Given the description of an element on the screen output the (x, y) to click on. 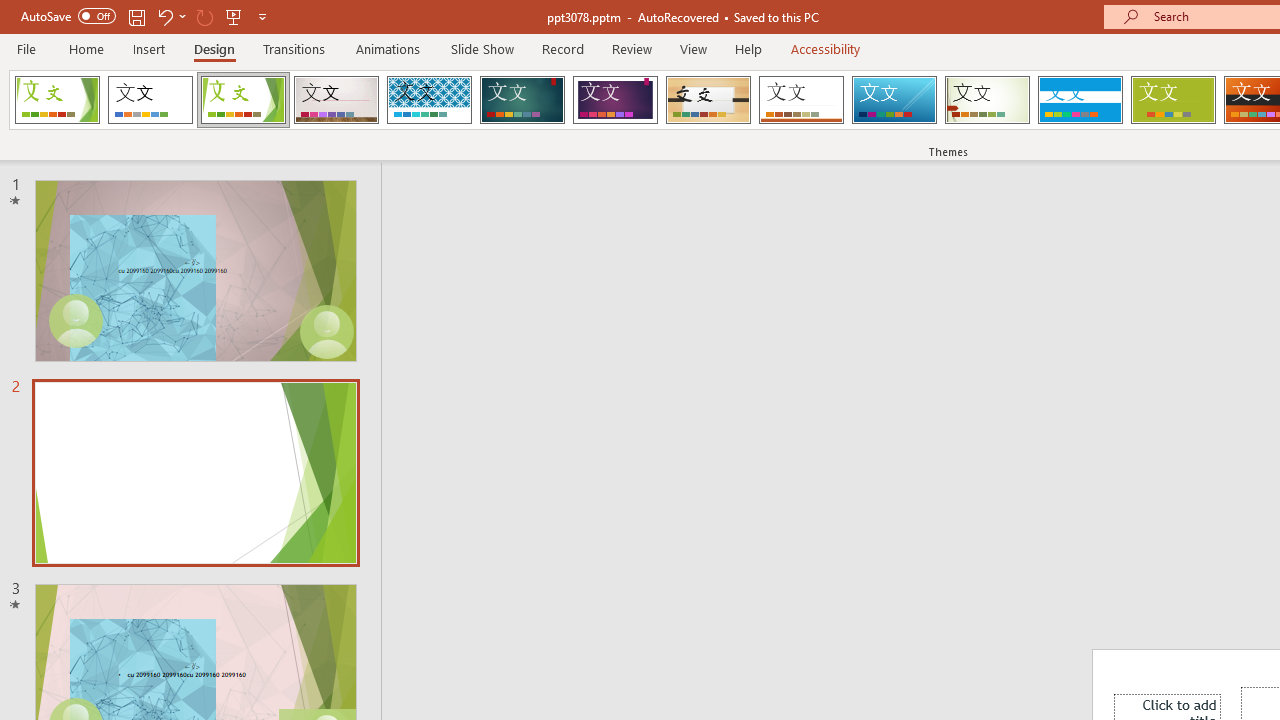
Integral (429, 100)
Basis (1172, 100)
Organic (708, 100)
Wisp (987, 100)
